Given the description of an element on the screen output the (x, y) to click on. 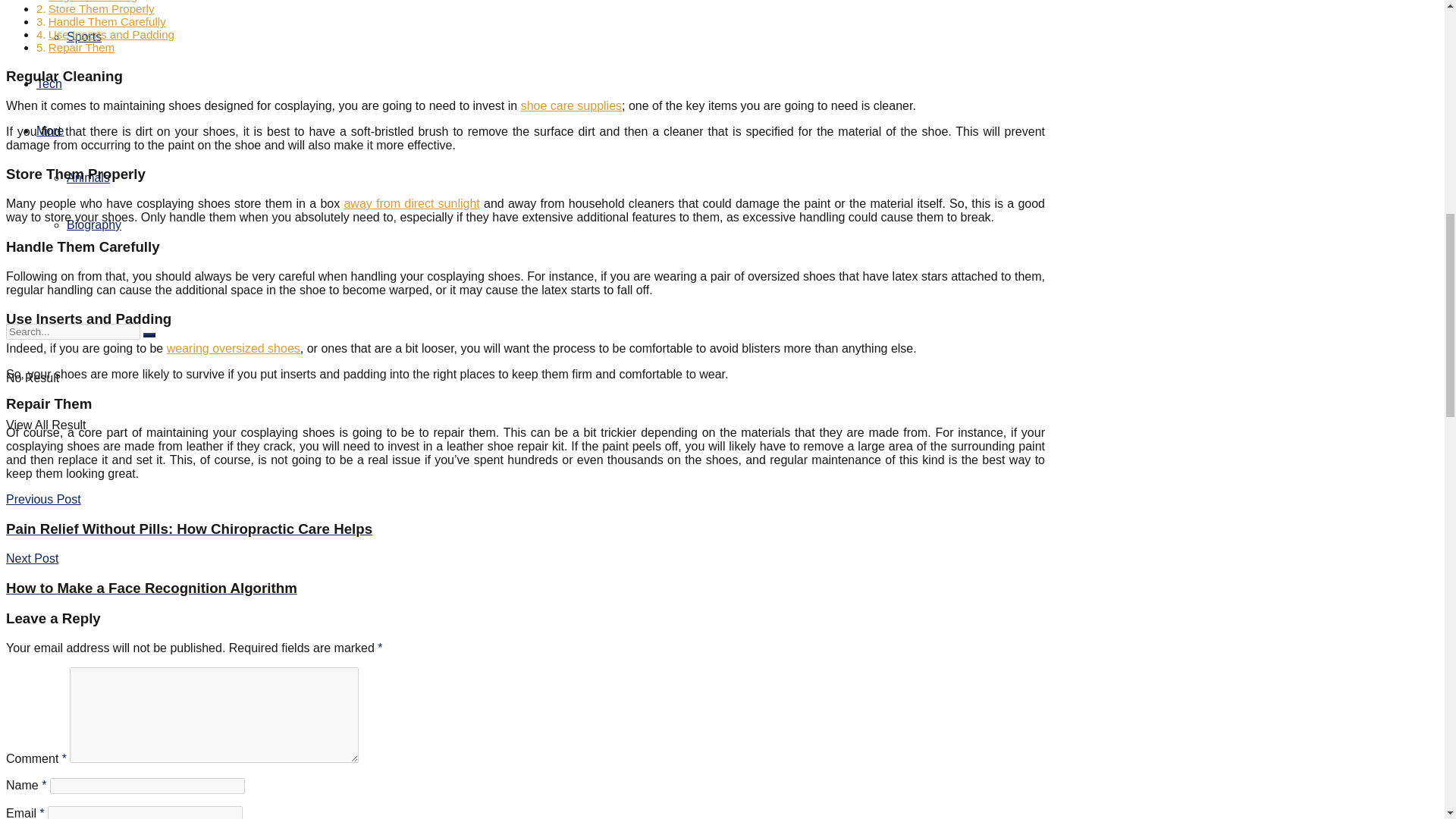
Repair Them (81, 47)
More (50, 130)
Regular Cleaning (92, 1)
Handle Them Carefully (106, 21)
shoe care supplies (571, 105)
Handle Them Carefully (106, 21)
Sports (83, 36)
Biography (93, 224)
Use Inserts and Padding (111, 33)
Regular Cleaning (92, 1)
